Given the description of an element on the screen output the (x, y) to click on. 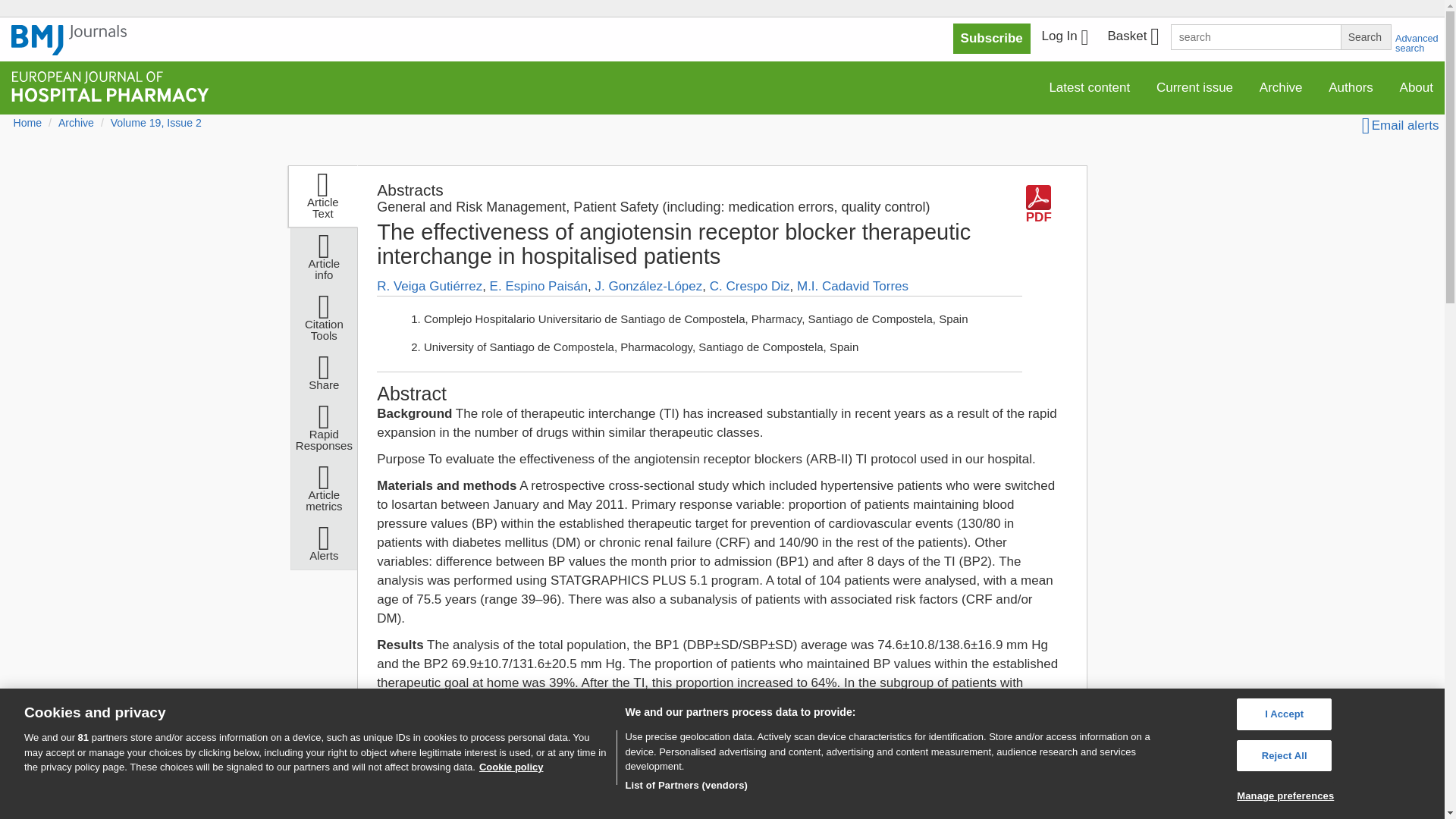
Subscribe (991, 38)
Latest content (1088, 87)
Log In (1064, 38)
BMJ Journals (68, 47)
Authors (1350, 87)
Basket (1132, 38)
Search (1364, 36)
Current issue (1194, 87)
Archive (1280, 87)
Search (1364, 36)
Advanced search (1416, 43)
BMJ Journals (68, 40)
